Given the description of an element on the screen output the (x, y) to click on. 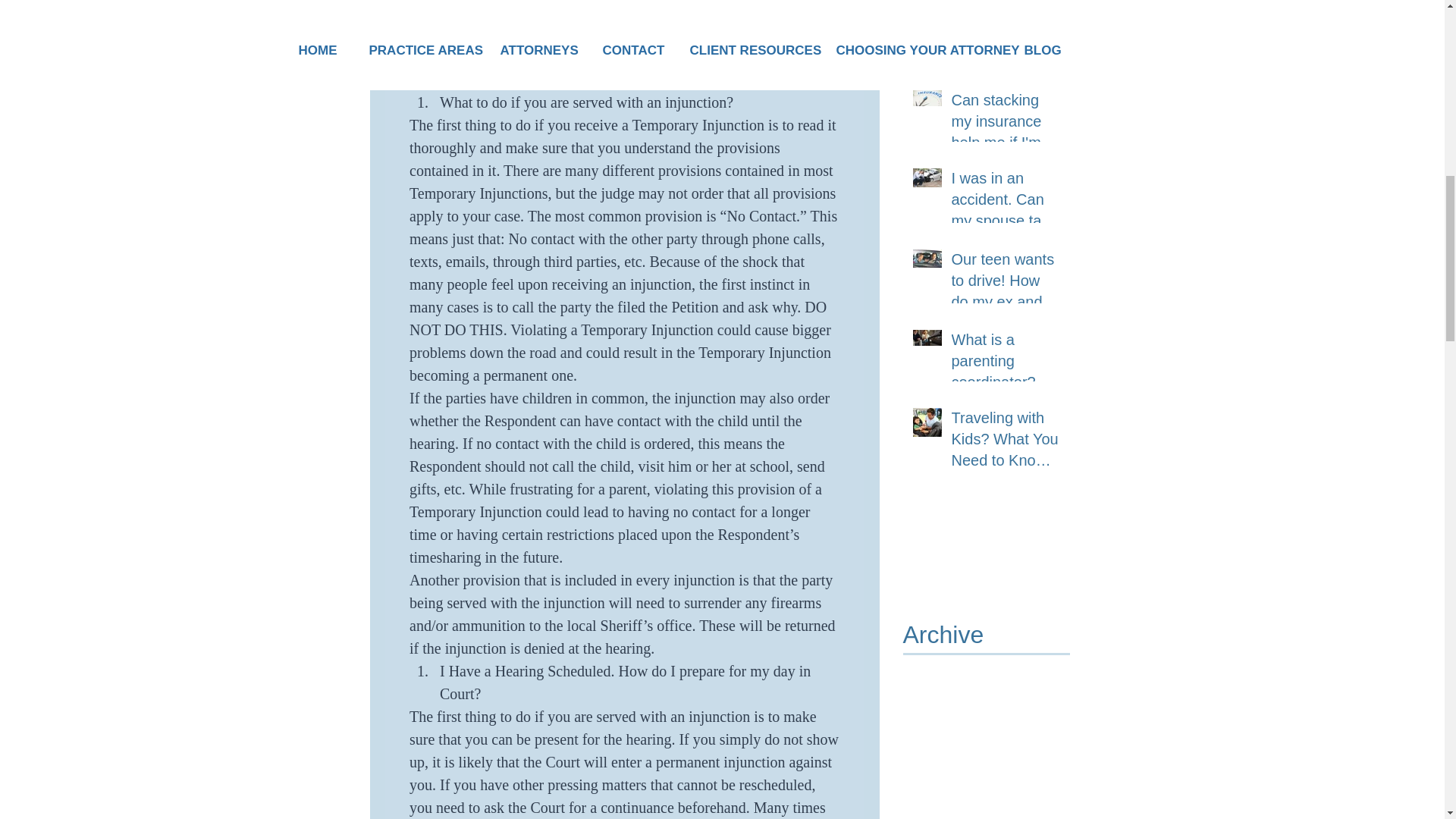
What is a parenting coordinator? Do I need one? (1004, 363)
Our teen wants to drive! How do my ex and I deal with this? (1004, 283)
Can stacking my insurance help me if I'm in an accident? (1004, 123)
